Given the description of an element on the screen output the (x, y) to click on. 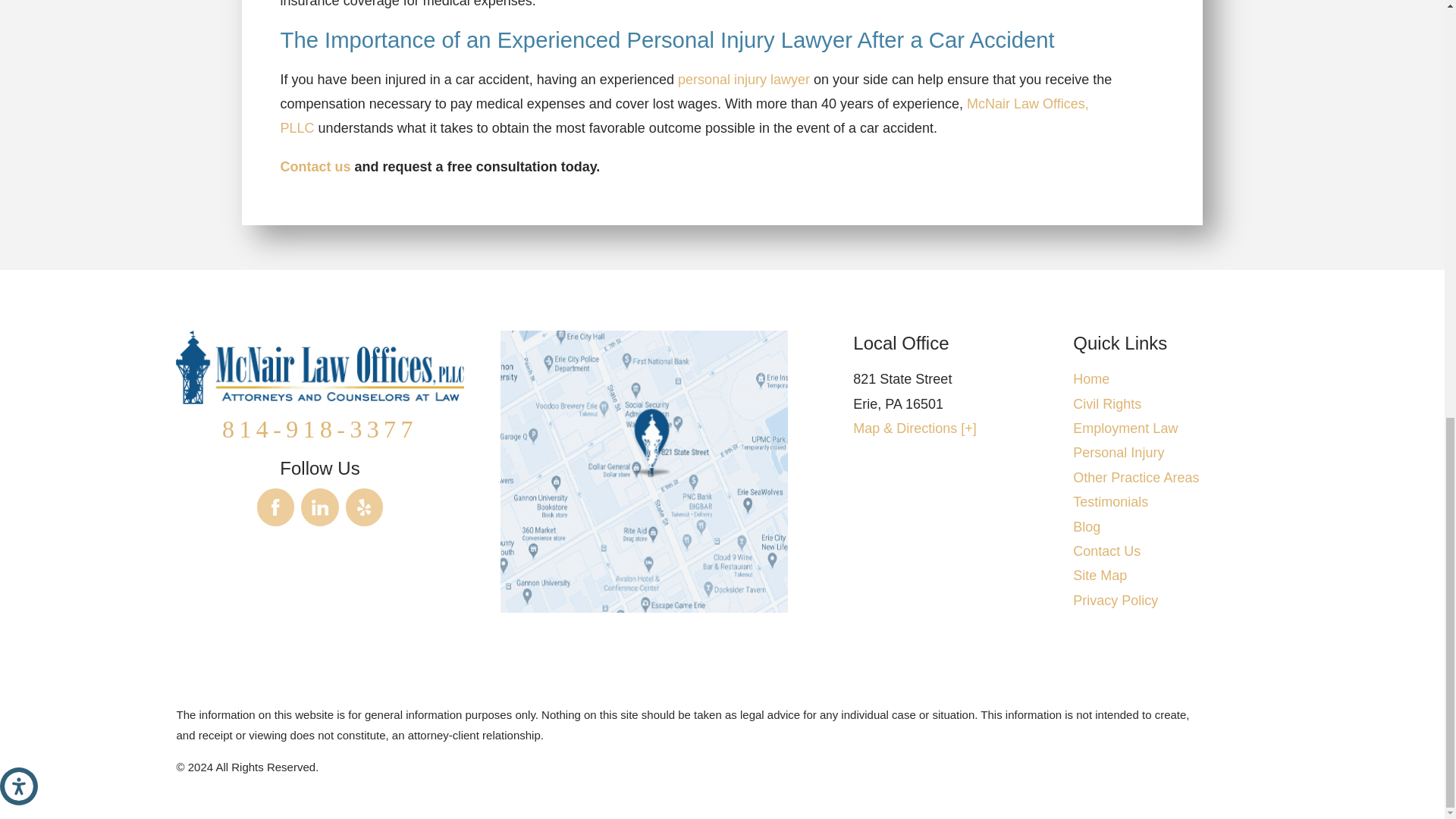
McNair Law Offices, PLLC (319, 367)
Facebook (276, 507)
Yelp (365, 507)
LinkedIn (320, 507)
